Given the description of an element on the screen output the (x, y) to click on. 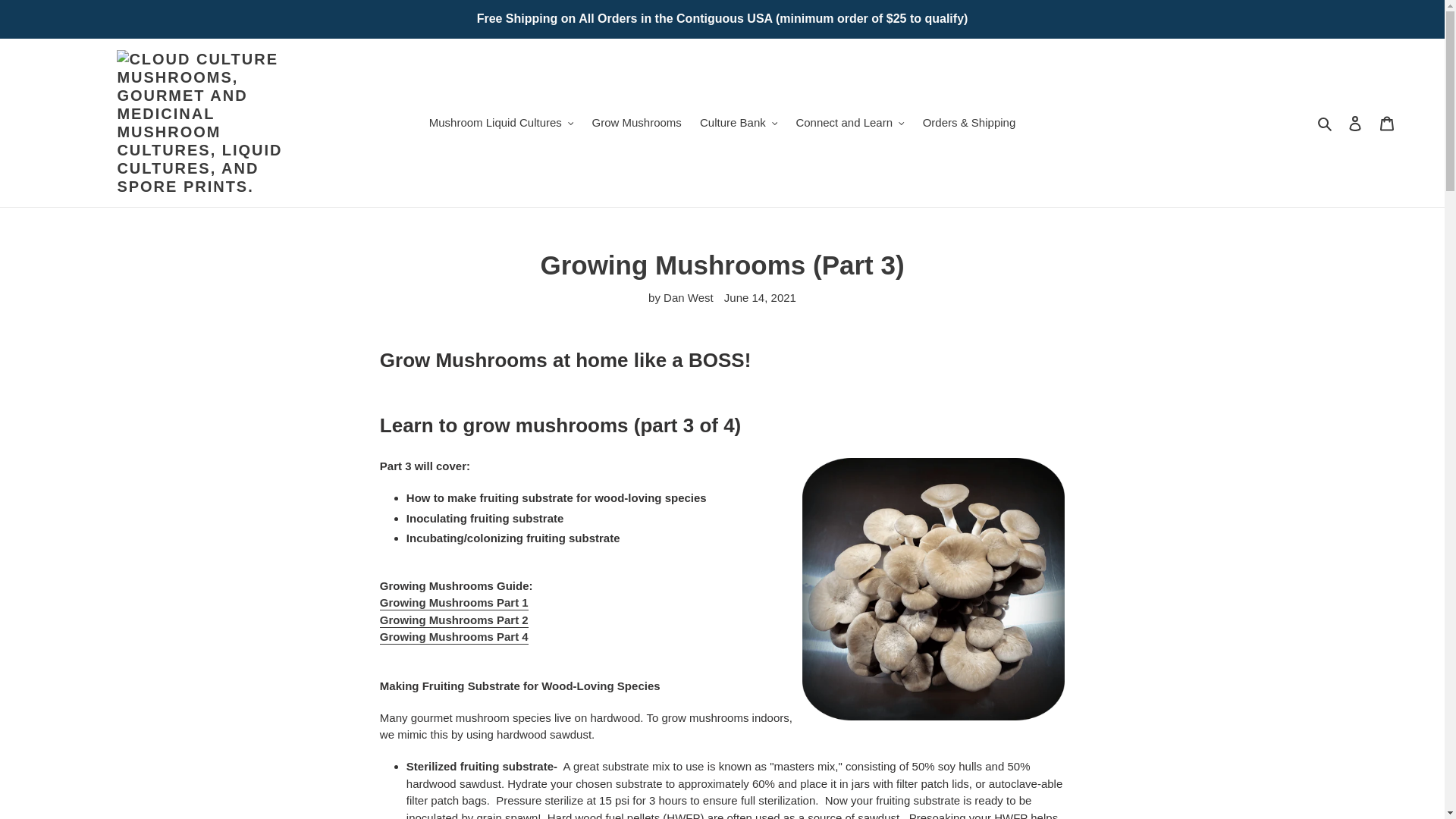
Cart (1387, 123)
Connect and Learn (849, 123)
Search (1326, 122)
Log in (1355, 123)
Mushroom Liquid Cultures (501, 123)
Culture Bank (738, 123)
Grow Mushrooms (635, 123)
